Given the description of an element on the screen output the (x, y) to click on. 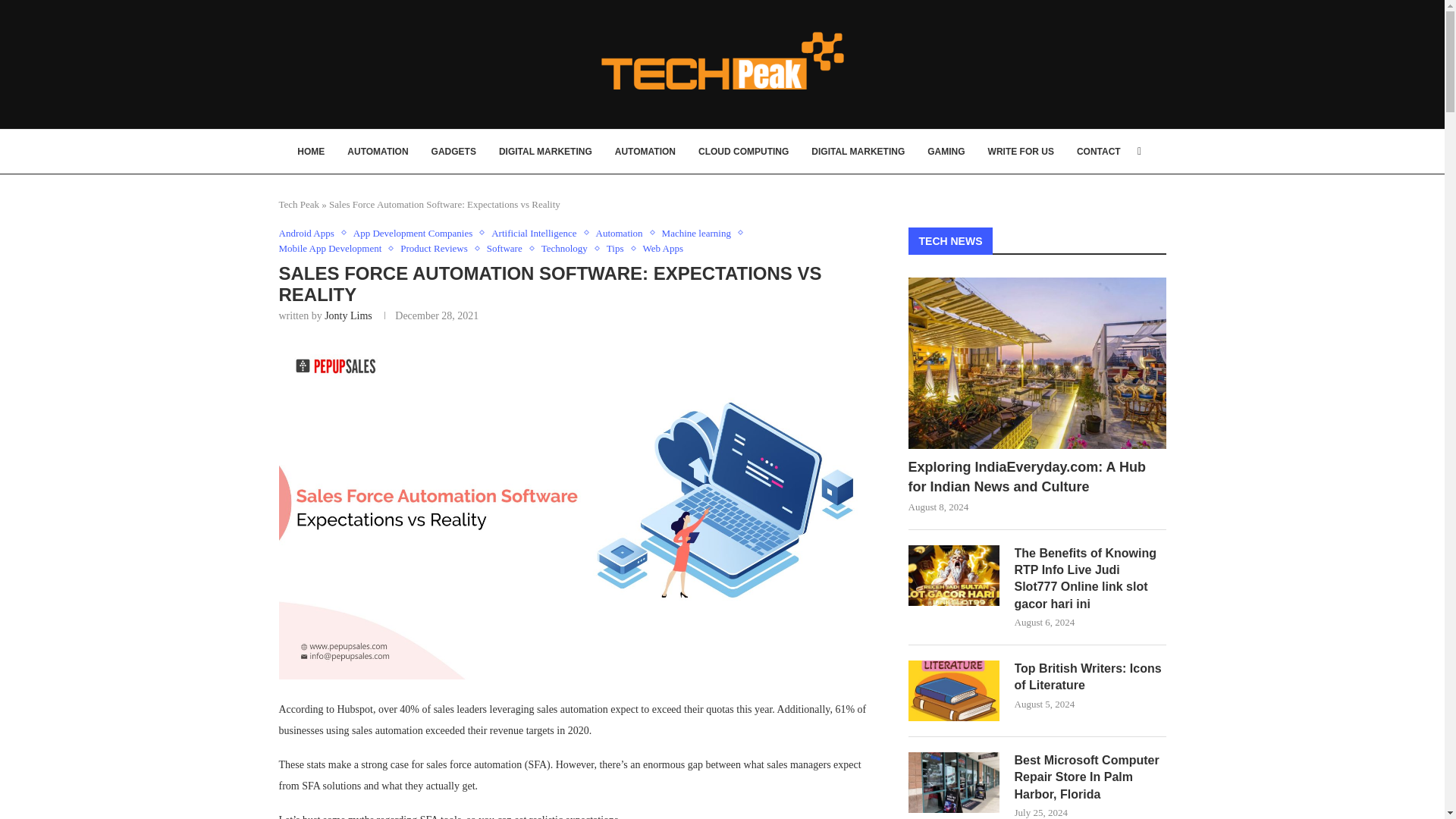
DIGITAL MARKETING (545, 151)
CLOUD COMPUTING (743, 151)
Tech Peak (299, 204)
Artificial Intelligence (537, 233)
Automation (622, 233)
WRITE FOR US (1021, 151)
CONTACT (1099, 151)
AUTOMATION (644, 151)
Product Reviews (437, 248)
GADGETS (453, 151)
